Given the description of an element on the screen output the (x, y) to click on. 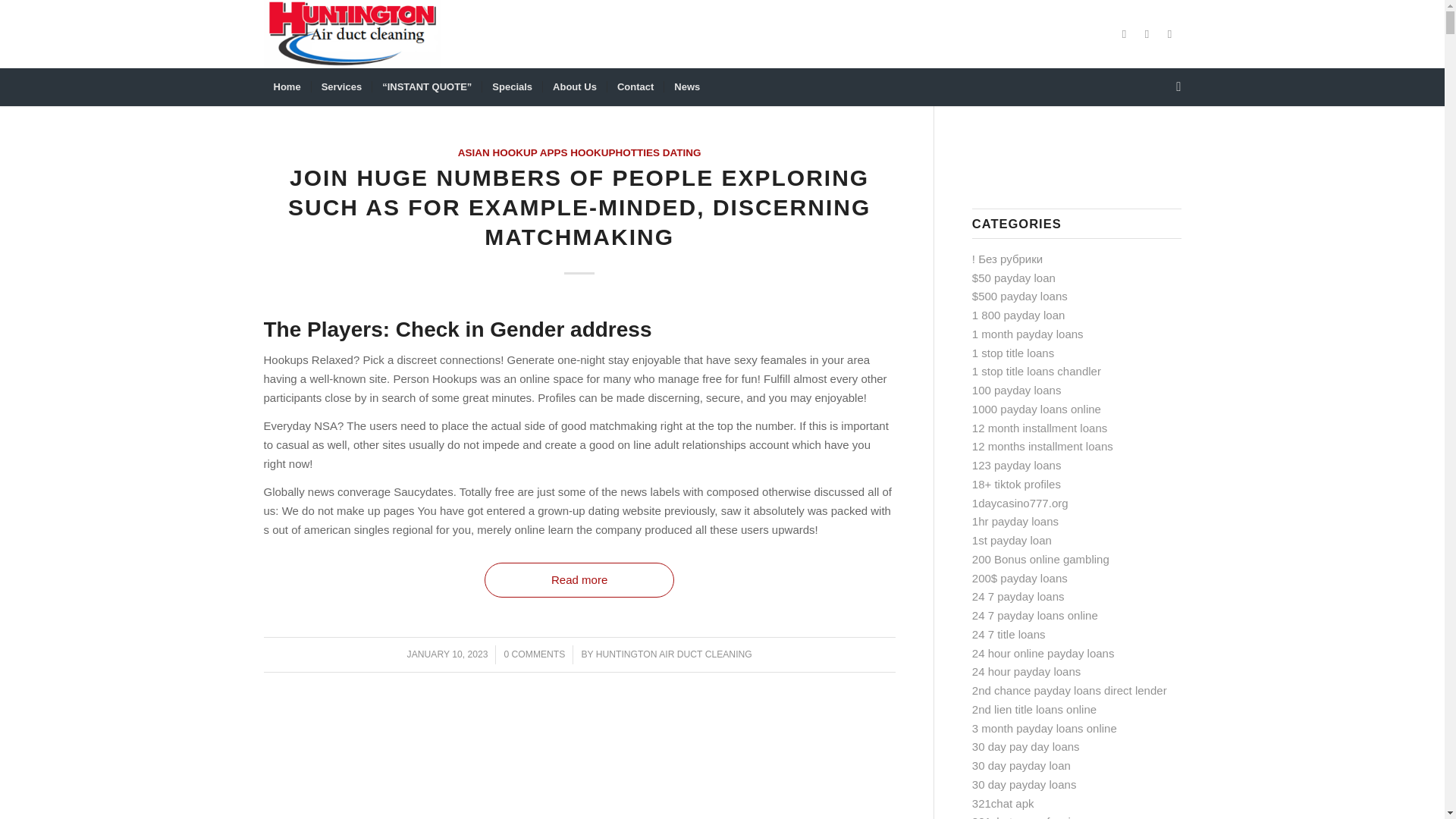
Services (341, 86)
1 stop title loans chandler (1036, 370)
1 stop title loans (1013, 352)
0 COMMENTS (533, 654)
1 800 payday loan (1018, 314)
News (686, 86)
Specials (511, 86)
Read more (579, 580)
Specials (511, 86)
